Given the description of an element on the screen output the (x, y) to click on. 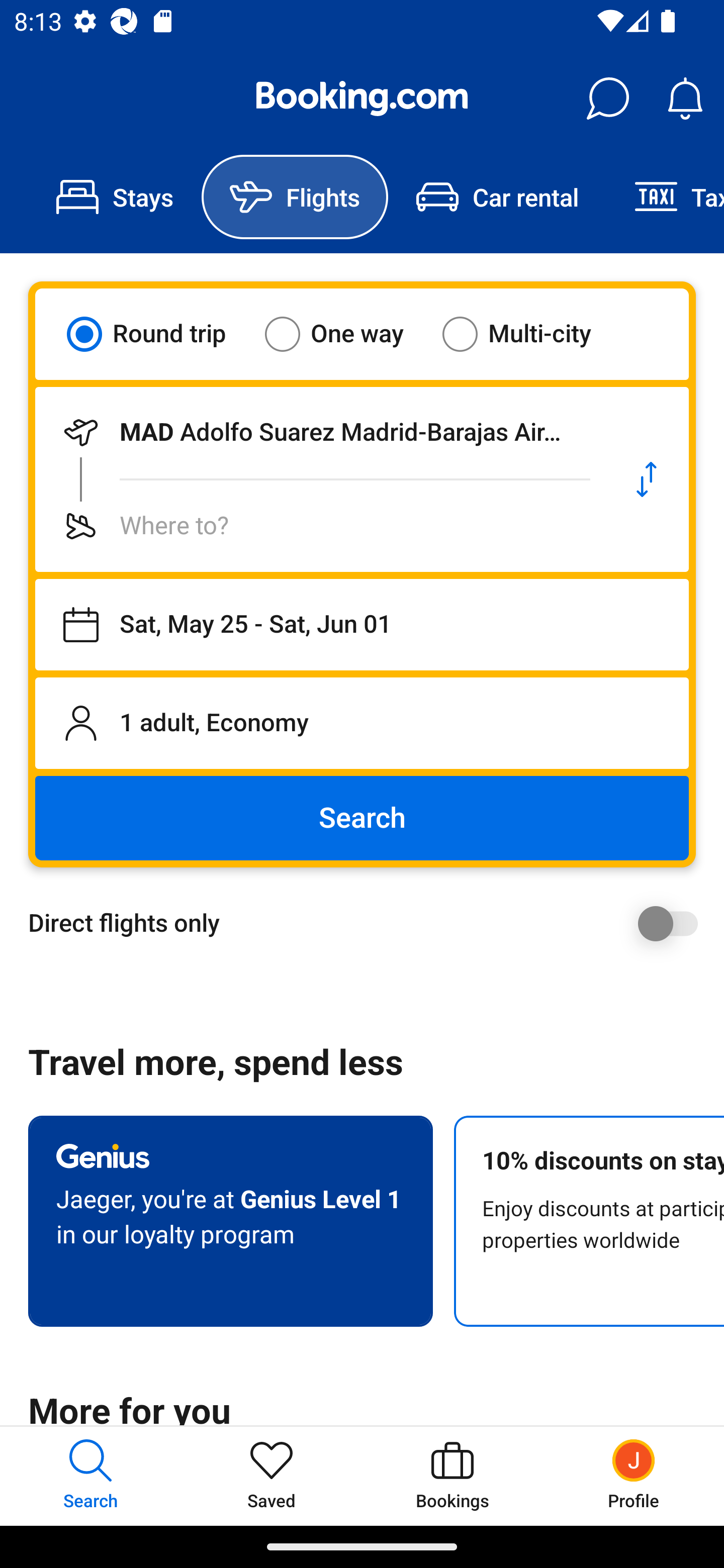
Messages (607, 98)
Notifications (685, 98)
Stays (114, 197)
Flights (294, 197)
Car rental (497, 197)
Taxi (665, 197)
One way (346, 333)
Multi-city (528, 333)
Swap departure location and destination (646, 479)
Flying to  (319, 525)
Departing on Sat, May 25, returning on Sat, Jun 01 (361, 624)
1 adult, Economy (361, 722)
Search (361, 818)
Direct flights only (369, 923)
Saved (271, 1475)
Bookings (452, 1475)
Profile (633, 1475)
